Given the description of an element on the screen output the (x, y) to click on. 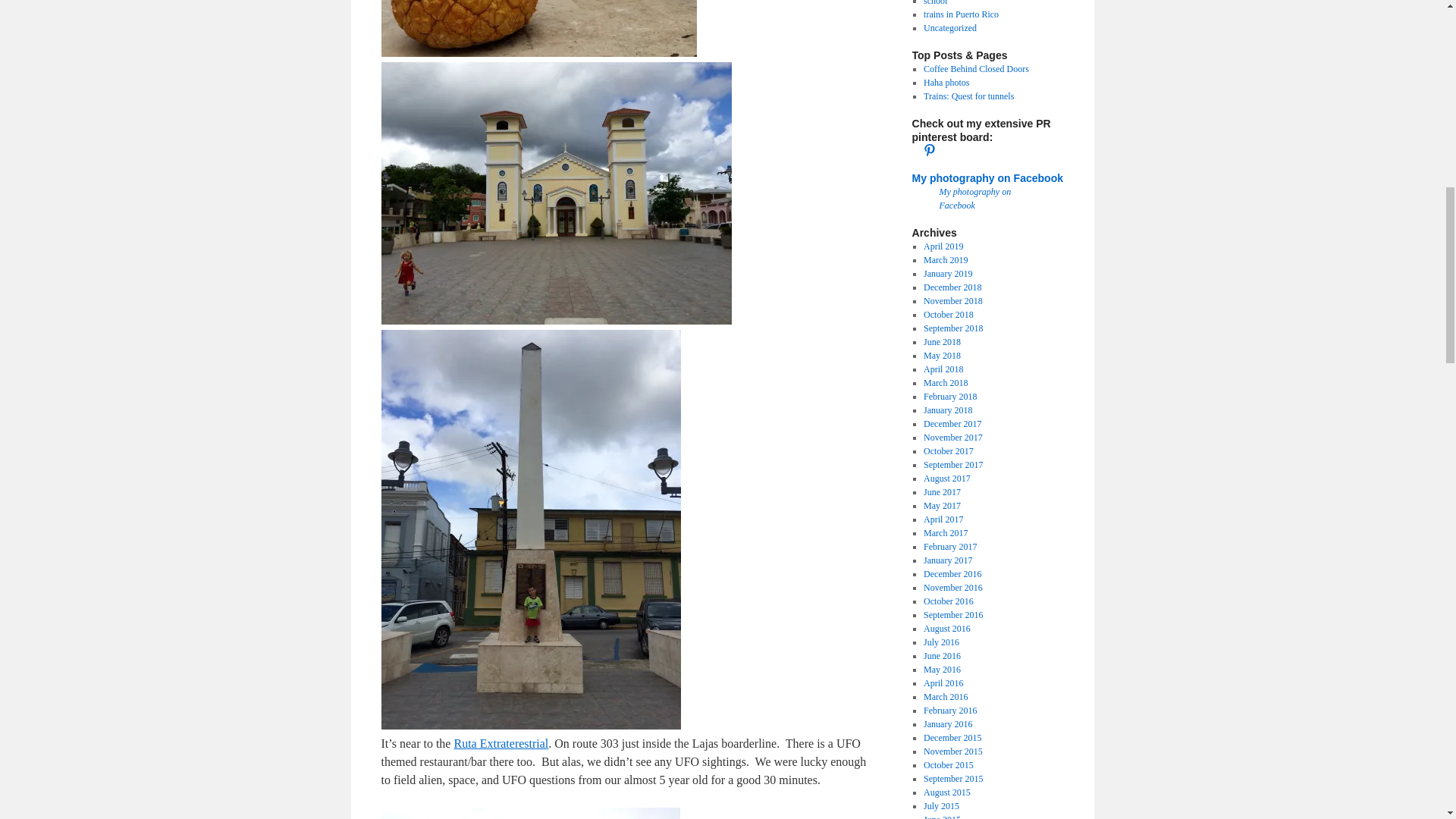
Ruta Extraterestrial (500, 743)
